Given the description of an element on the screen output the (x, y) to click on. 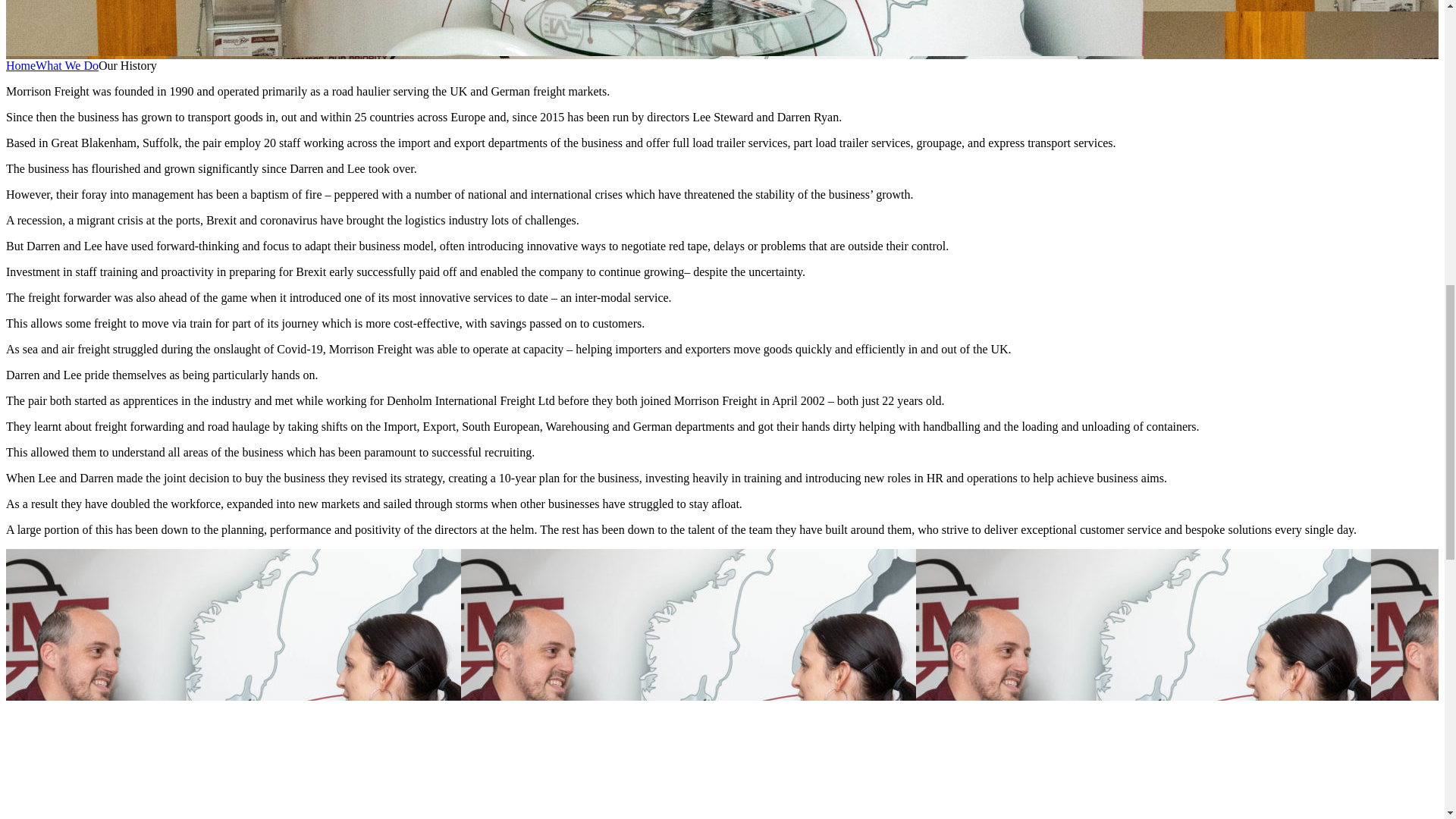
Home (19, 65)
What We Do (66, 65)
Go to Morrison Freight. (19, 65)
